Given the description of an element on the screen output the (x, y) to click on. 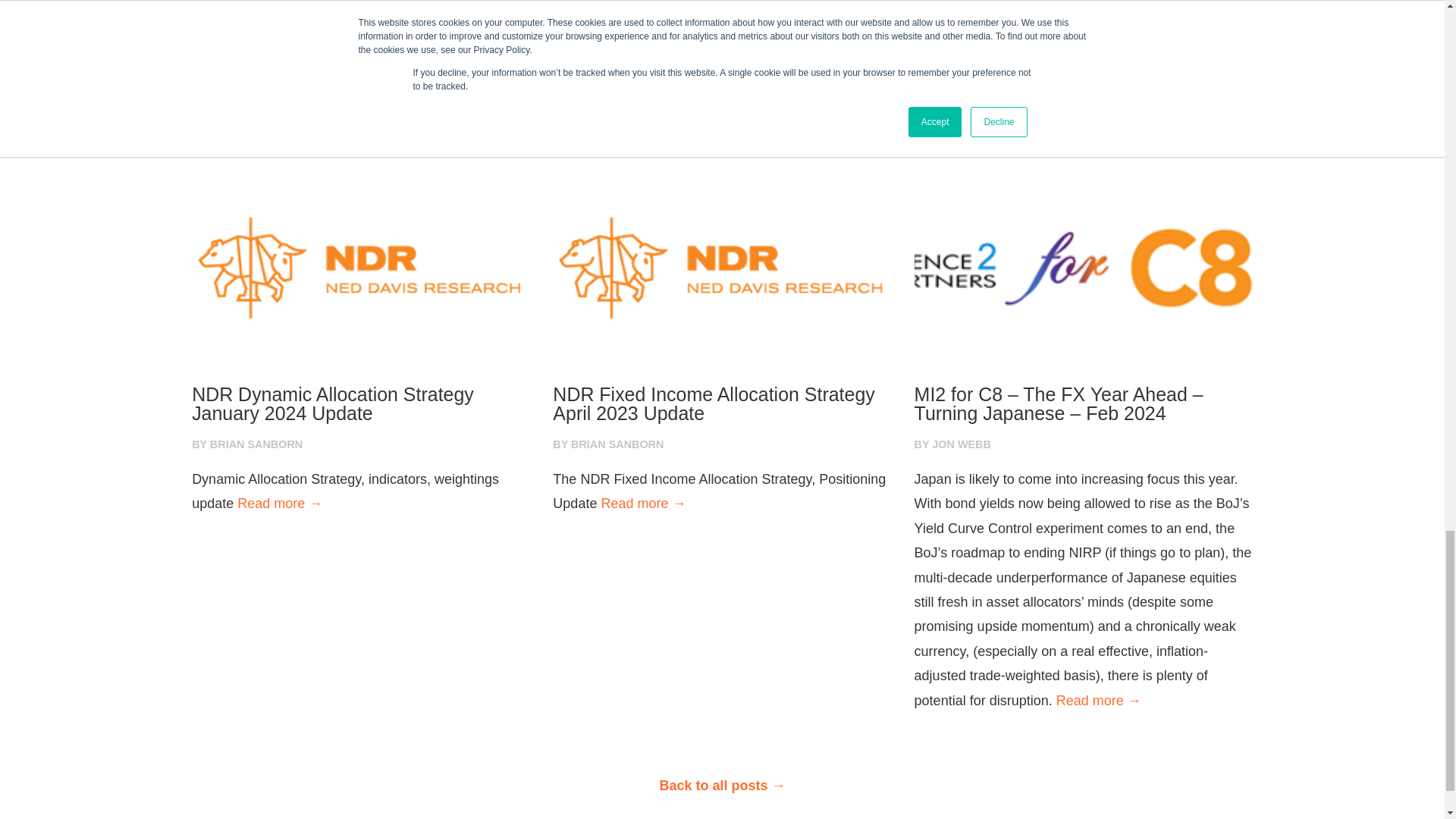
NDR Dynamic Allocation Strategy January 2024 Update (360, 403)
NDR Fixed Income Allocation Strategy April 2023 Update (722, 403)
